Given the description of an element on the screen output the (x, y) to click on. 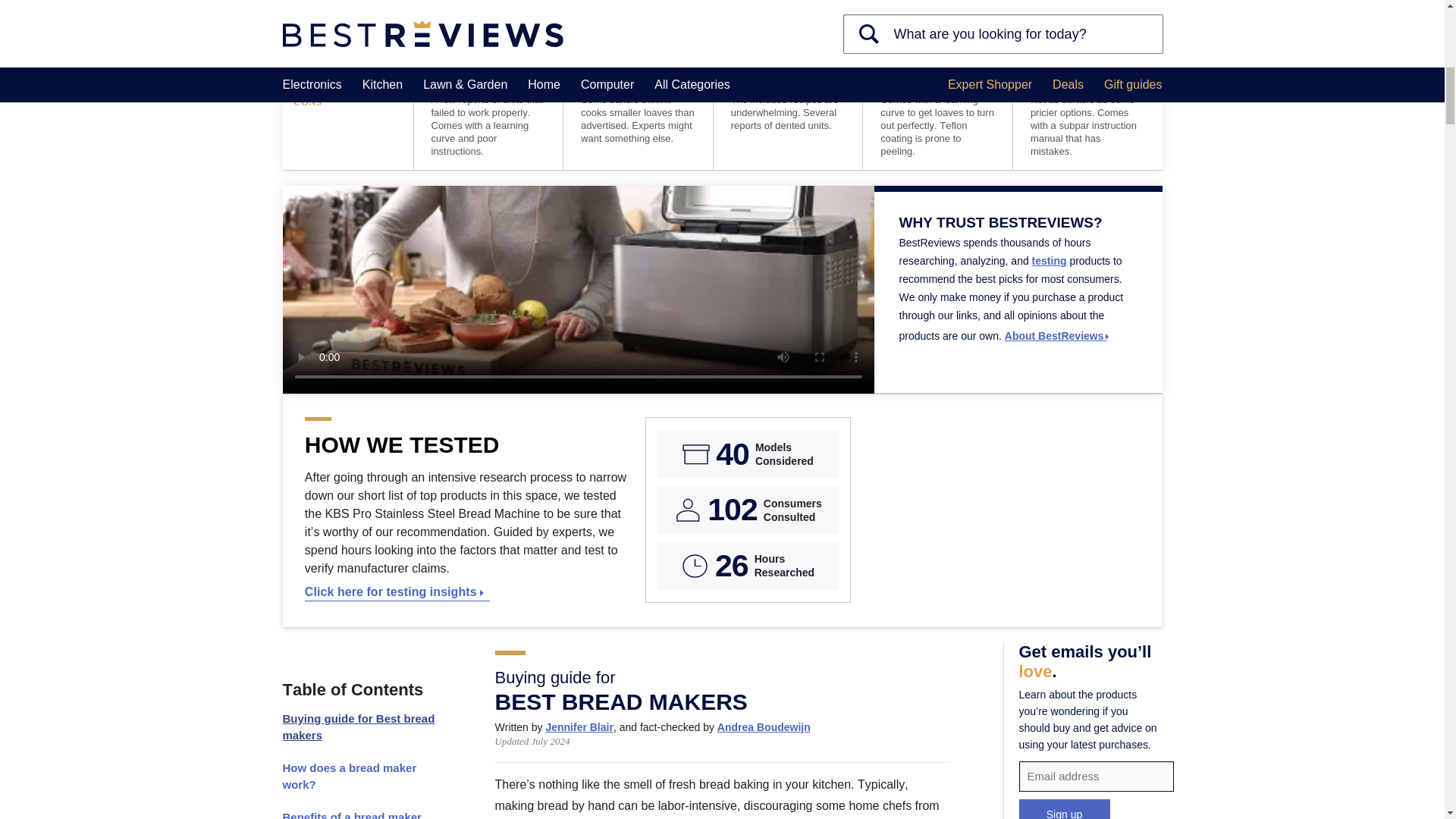
How does a bread maker work? (361, 776)
About BestReviews   (1056, 336)
testing (1049, 260)
Subscribe email (1096, 776)
Benefits of a bread maker (361, 811)
Buying guide for Best bread makers (361, 727)
